Given the description of an element on the screen output the (x, y) to click on. 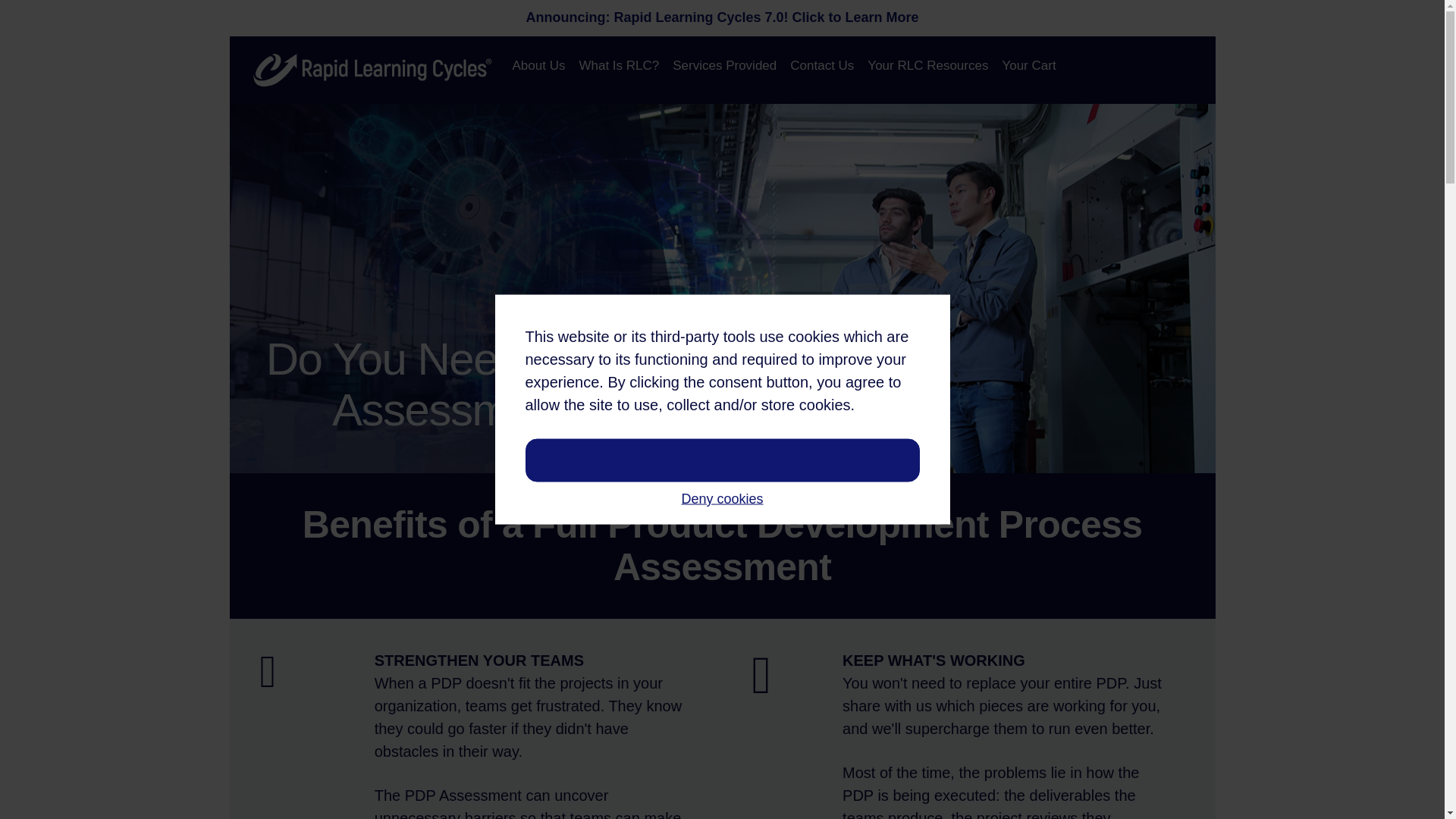
What Is RLC? (618, 65)
Announcing: Rapid Learning Cycles 7.0! Click to Learn More (721, 17)
RLCIHorizontalLogoReversed-Transparent (373, 69)
Your Cart (1028, 65)
About Us (538, 65)
Your RLC Resources (927, 65)
Services Provided (724, 65)
Contact Us (821, 65)
